Given the description of an element on the screen output the (x, y) to click on. 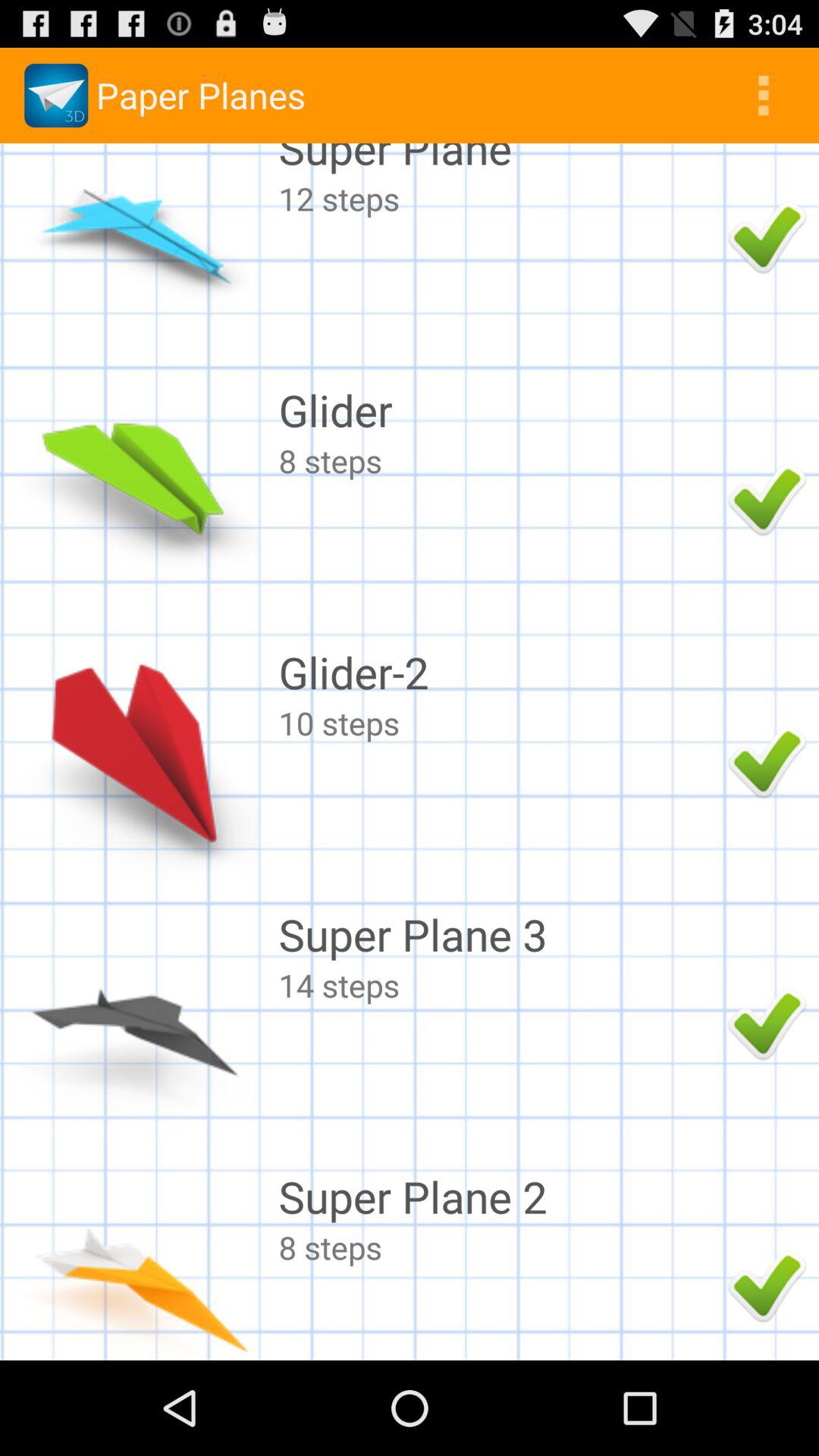
flip until 14 steps app (498, 984)
